Given the description of an element on the screen output the (x, y) to click on. 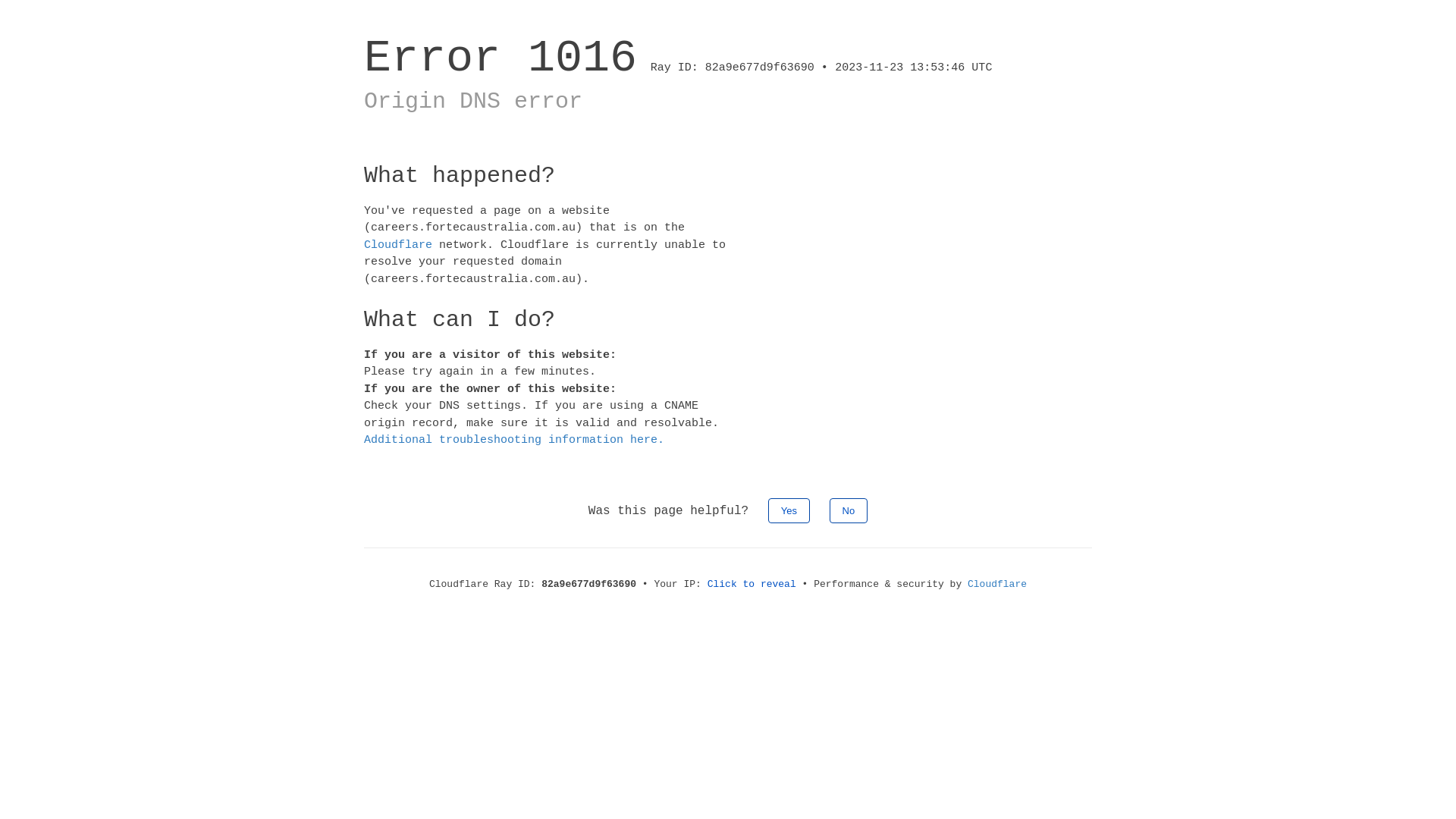
Cloudflare Element type: text (996, 583)
Cloudflare Element type: text (398, 244)
No Element type: text (848, 509)
Yes Element type: text (788, 509)
Click to reveal Element type: text (751, 583)
Additional troubleshooting information here. Element type: text (514, 439)
